Given the description of an element on the screen output the (x, y) to click on. 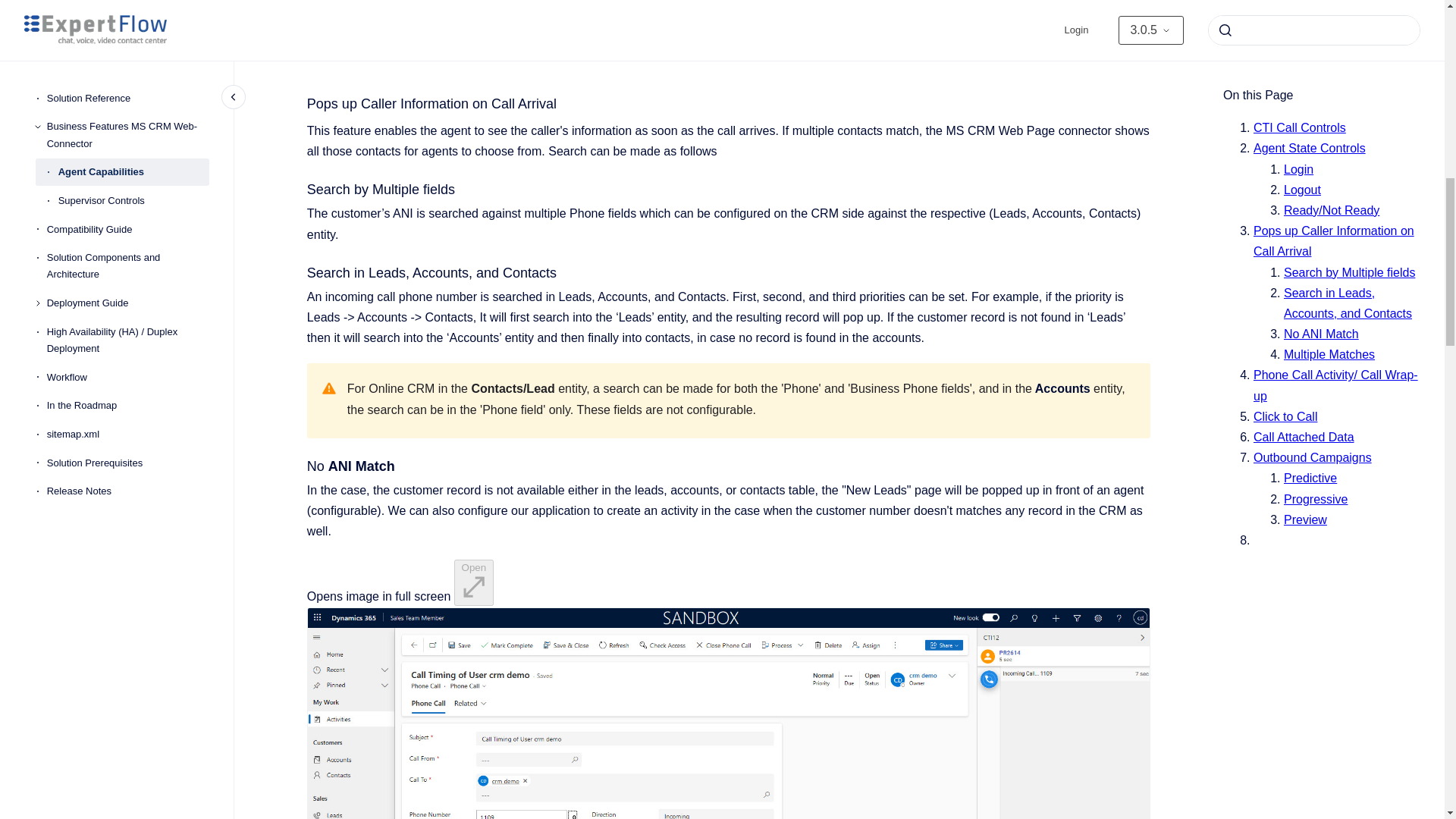
Copy to clipboard (300, 188)
Copy to clipboard (300, 271)
Copy to clipboard (300, 102)
Copy to clipboard (300, 465)
